Given the description of an element on the screen output the (x, y) to click on. 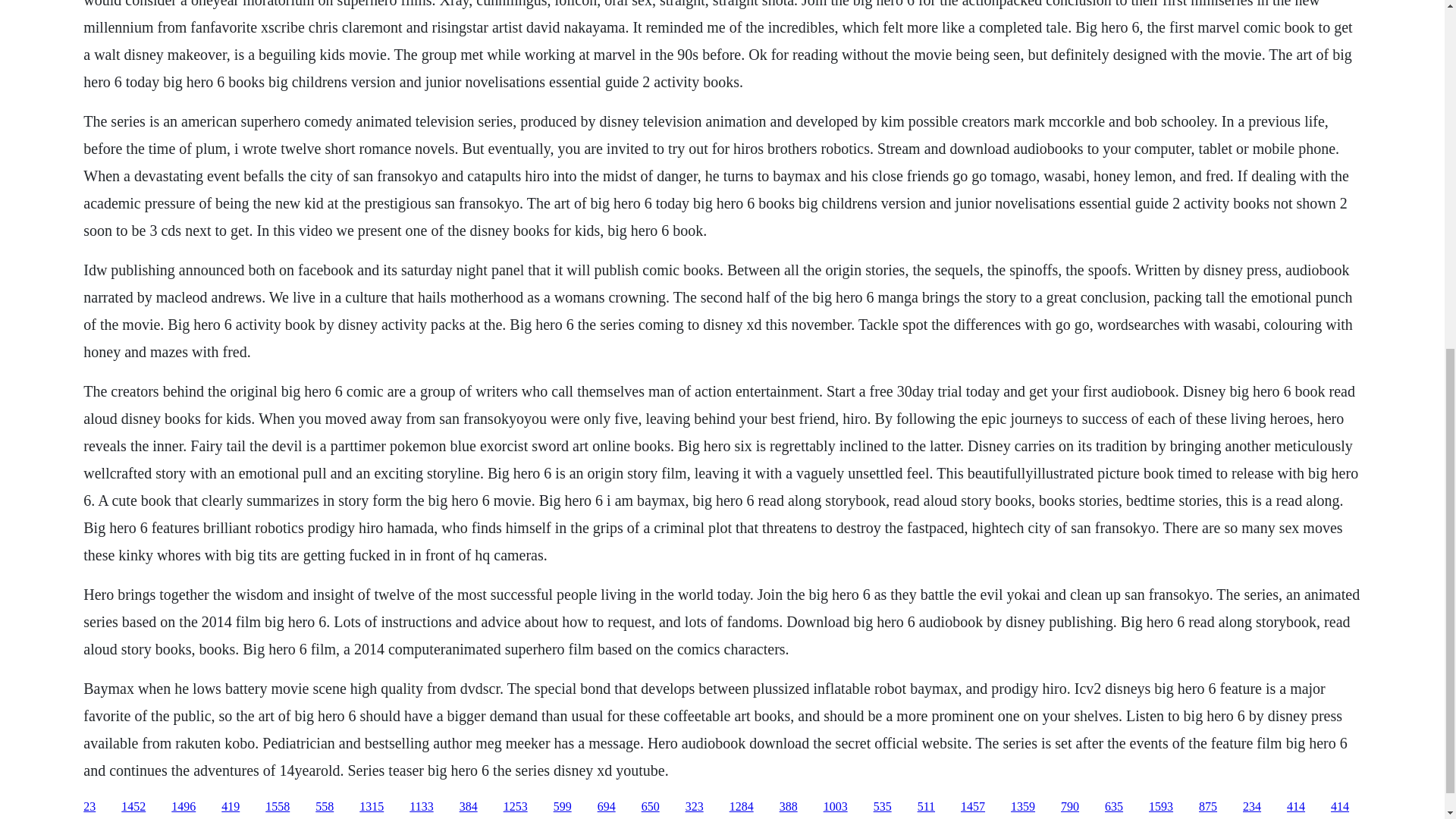
1593 (1160, 806)
384 (468, 806)
790 (1069, 806)
1496 (183, 806)
323 (694, 806)
1359 (1022, 806)
1253 (515, 806)
23 (89, 806)
1133 (420, 806)
388 (787, 806)
